Given the description of an element on the screen output the (x, y) to click on. 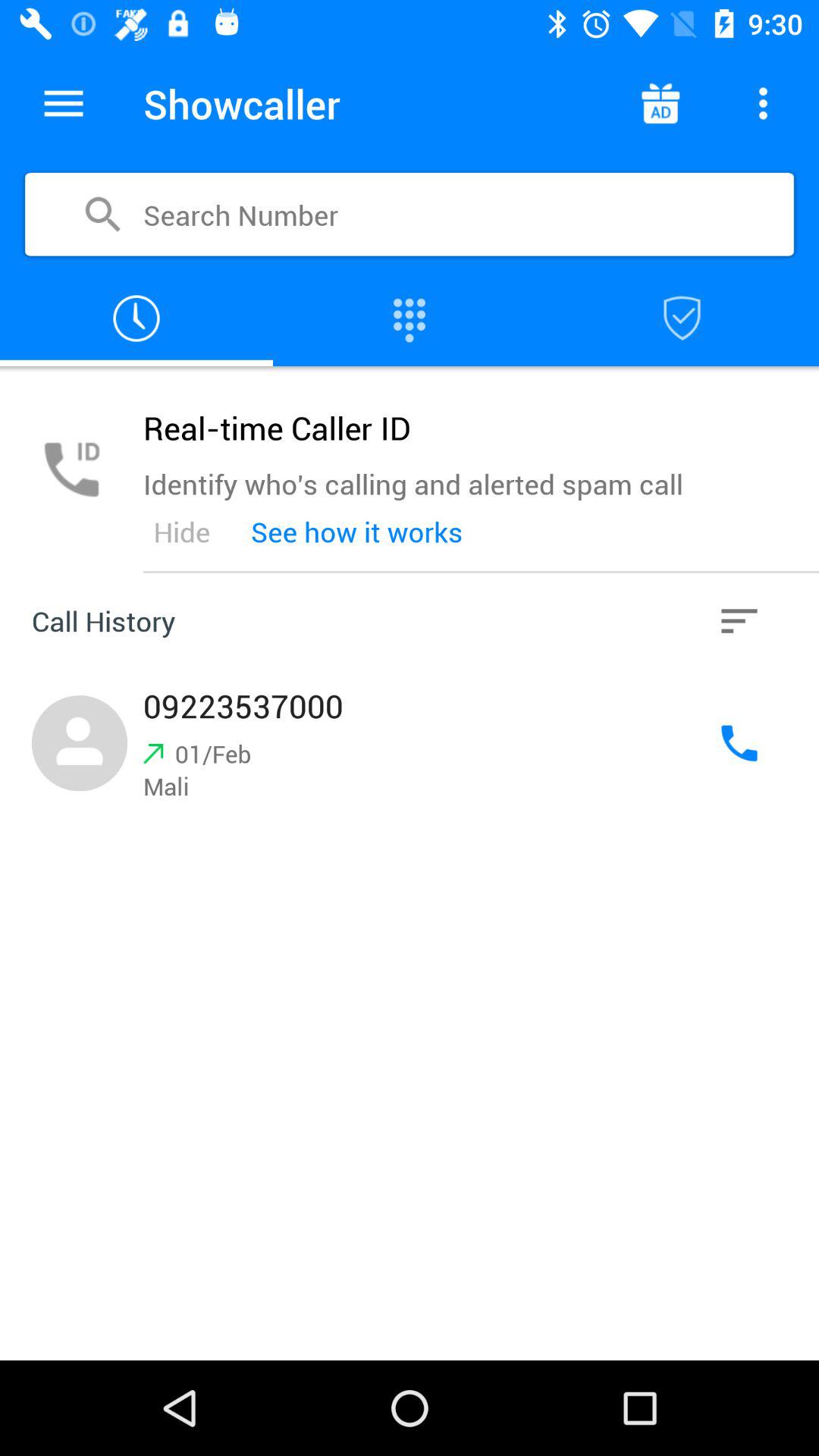
view this call (409, 743)
